Given the description of an element on the screen output the (x, y) to click on. 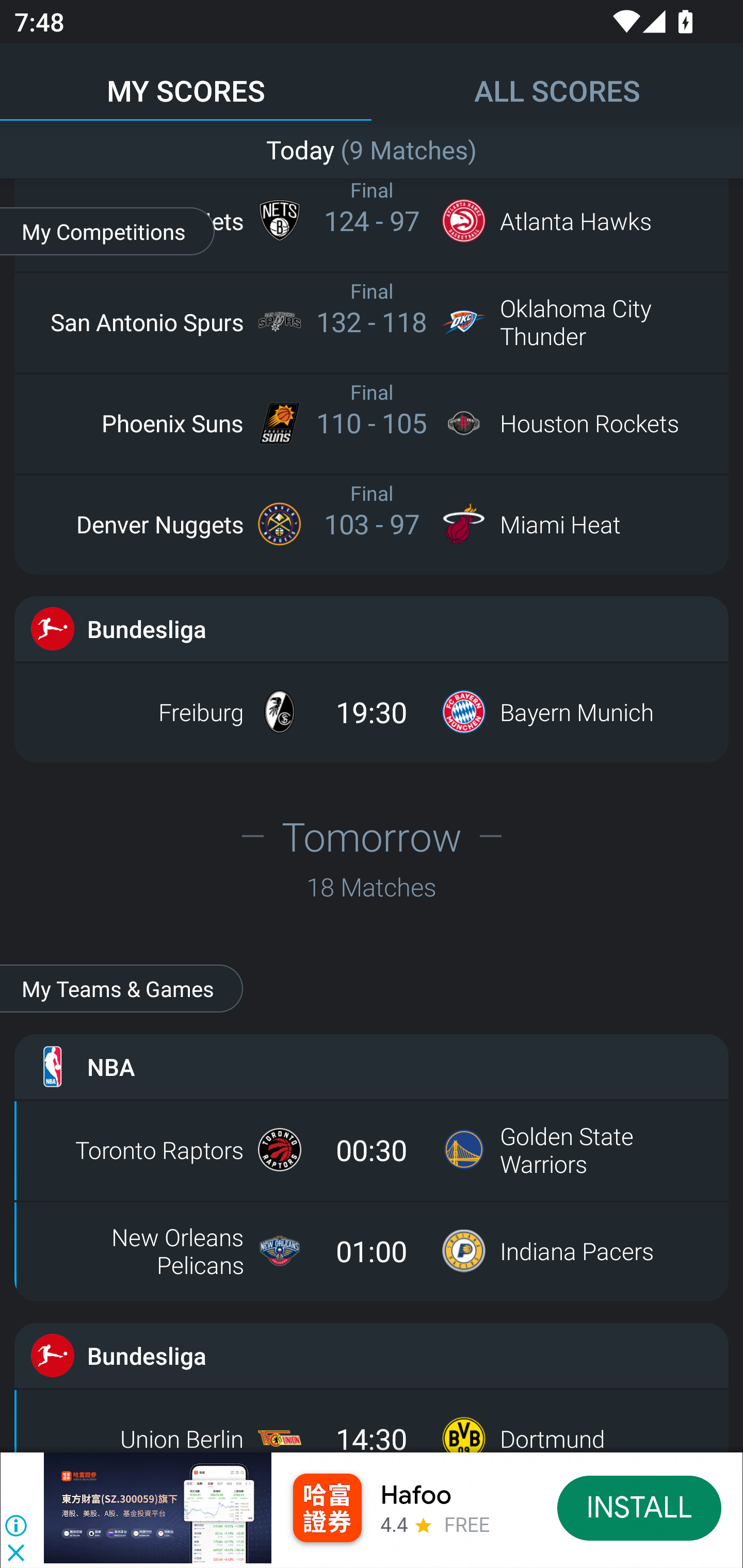
MY SCORES (185, 81)
ALL SCORES (557, 81)
Charlotte Hornets 99 - 111 Milwaukee Bucks (371, 145)
Brooklyn Nets Final 124 - 97 Atlanta Hawks (371, 220)
Phoenix Suns Final 110 - 105 Houston Rockets (371, 423)
Denver Nuggets Final 103 - 97 Miami Heat (371, 523)
Bundesliga (371, 628)
Freiburg 19:30 Bayern Munich (371, 711)
NBA (371, 1066)
Toronto Raptors 00:30 Golden State Warriors (371, 1149)
New Orleans Pelicans 01:00 Indiana Pacers (371, 1250)
Bundesliga (371, 1355)
Union Berlin 14:30 Dortmund (371, 1424)
INSTALL (639, 1507)
Hafoo (416, 1494)
